Given the description of an element on the screen output the (x, y) to click on. 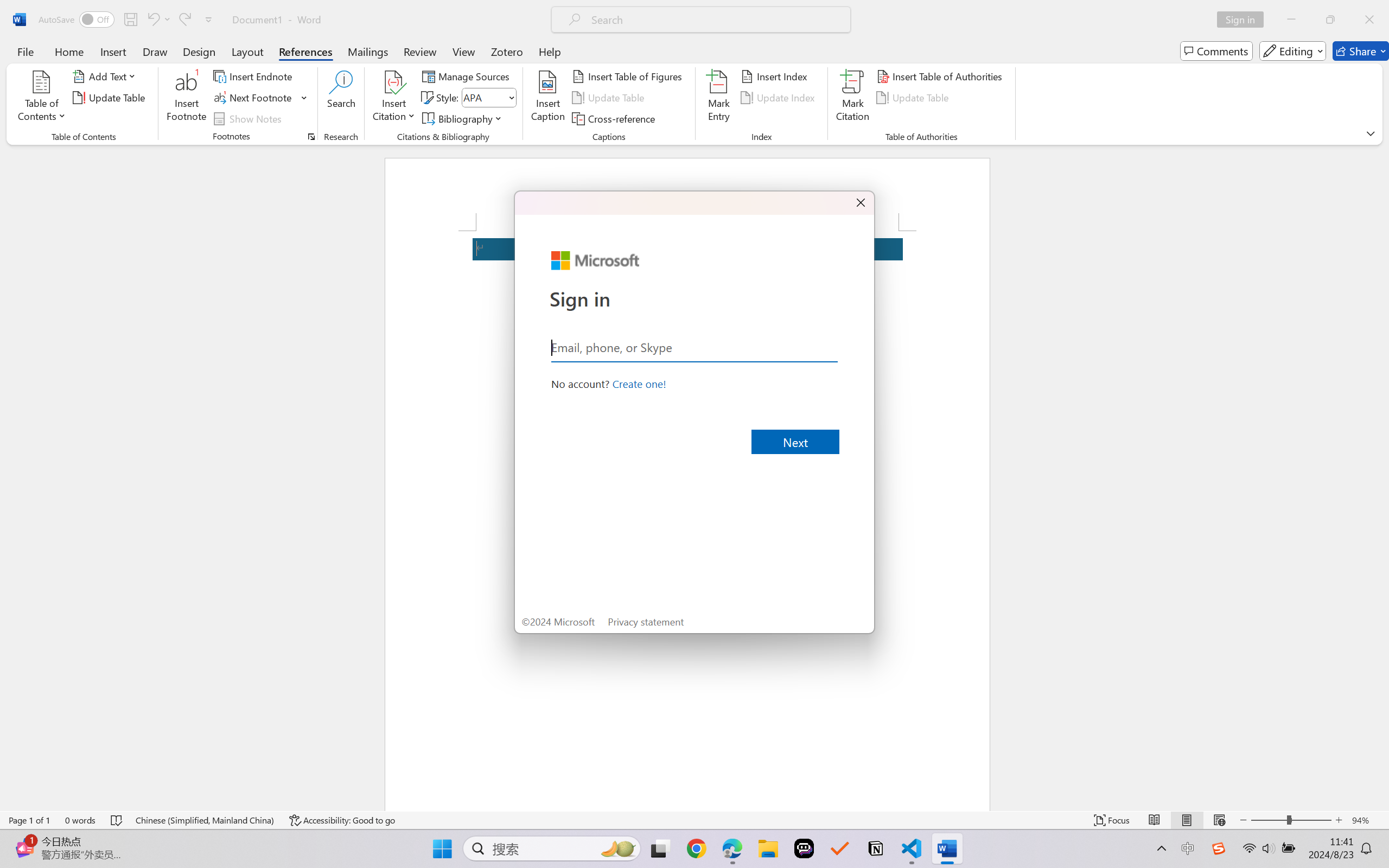
Insert Caption... (547, 97)
Sign in (1244, 19)
Update Table... (110, 97)
Update Table (914, 97)
